Given the description of an element on the screen output the (x, y) to click on. 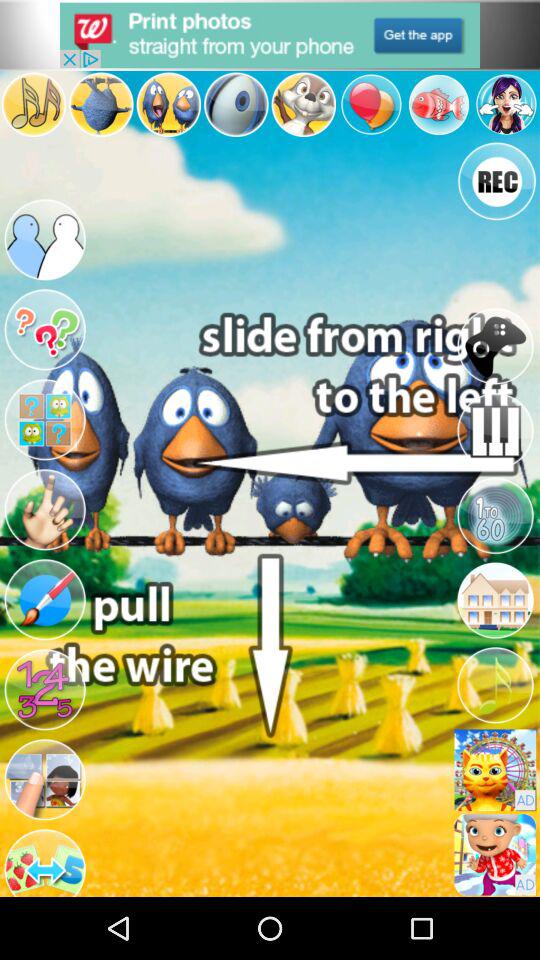
view more content (45, 420)
